Given the description of an element on the screen output the (x, y) to click on. 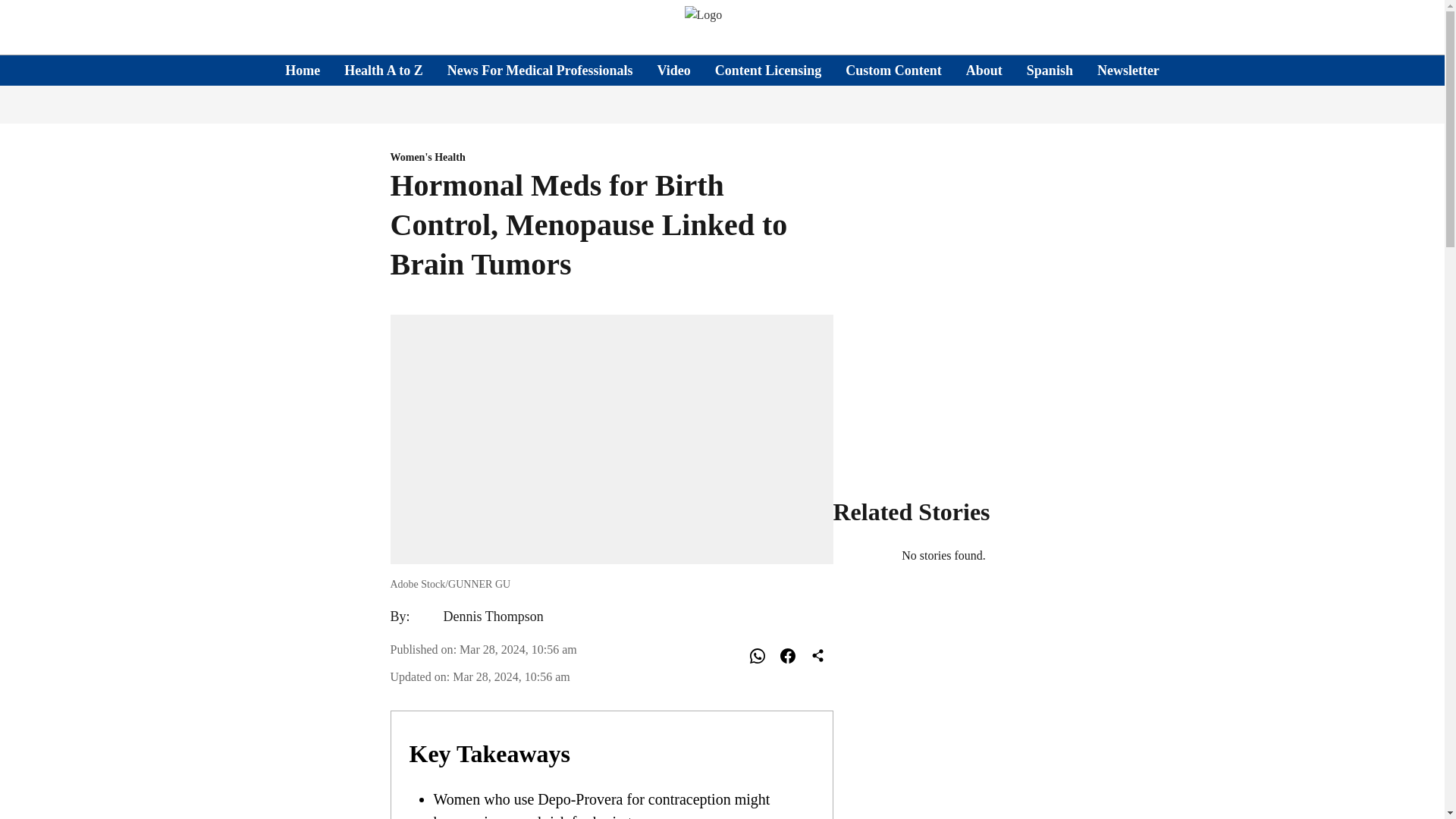
2024-03-28 10:56 (518, 649)
Home (302, 70)
2024-03-28 10:56 (511, 676)
Health A to Z (383, 70)
